Given the description of an element on the screen output the (x, y) to click on. 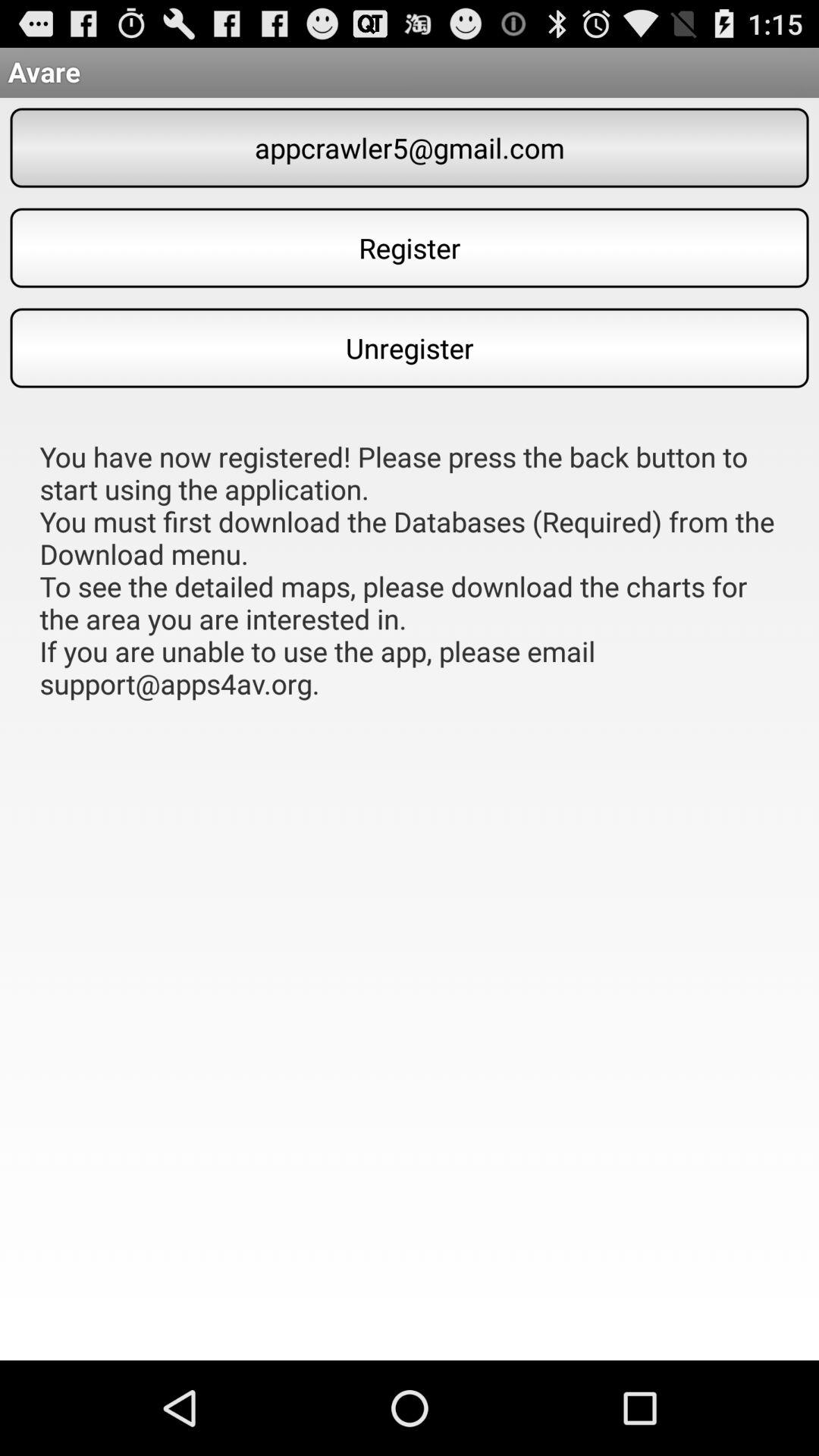
scroll to the register icon (409, 247)
